Given the description of an element on the screen output the (x, y) to click on. 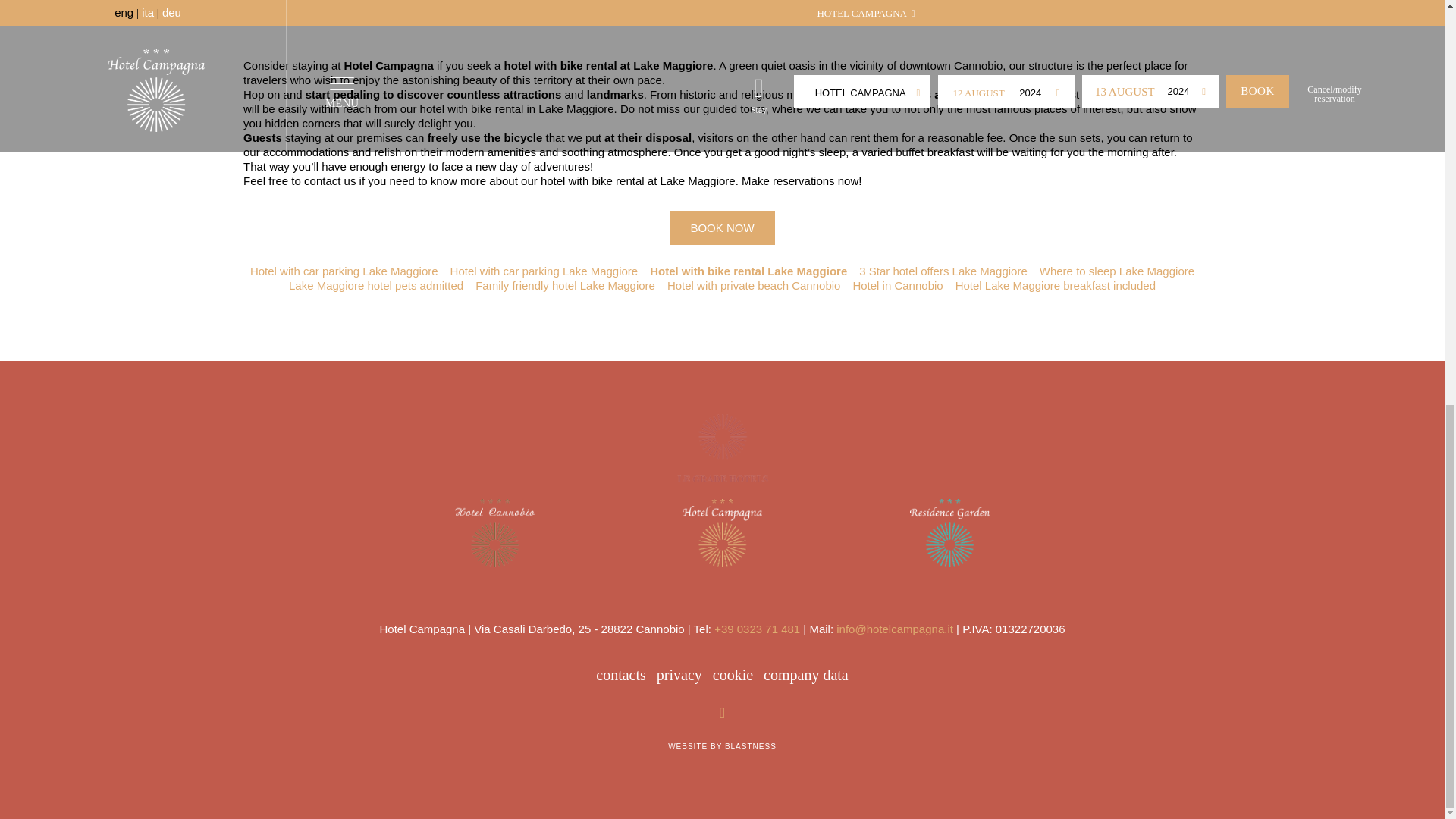
Hotel with bike rental Lake Maggiore (748, 270)
BOOK NOW (722, 227)
Hotel with car parking Lake Maggiore (544, 270)
Hotel with car parking Lake Maggiore (344, 270)
Privacy (678, 674)
Contacts (620, 674)
Hotel with bike rental Lake Maggiore (721, 448)
3 Star hotel offers Lake Maggiore (943, 270)
Hotel in Cannobio (896, 285)
Family friendly hotel Lake Maggiore (565, 285)
